Given the description of an element on the screen output the (x, y) to click on. 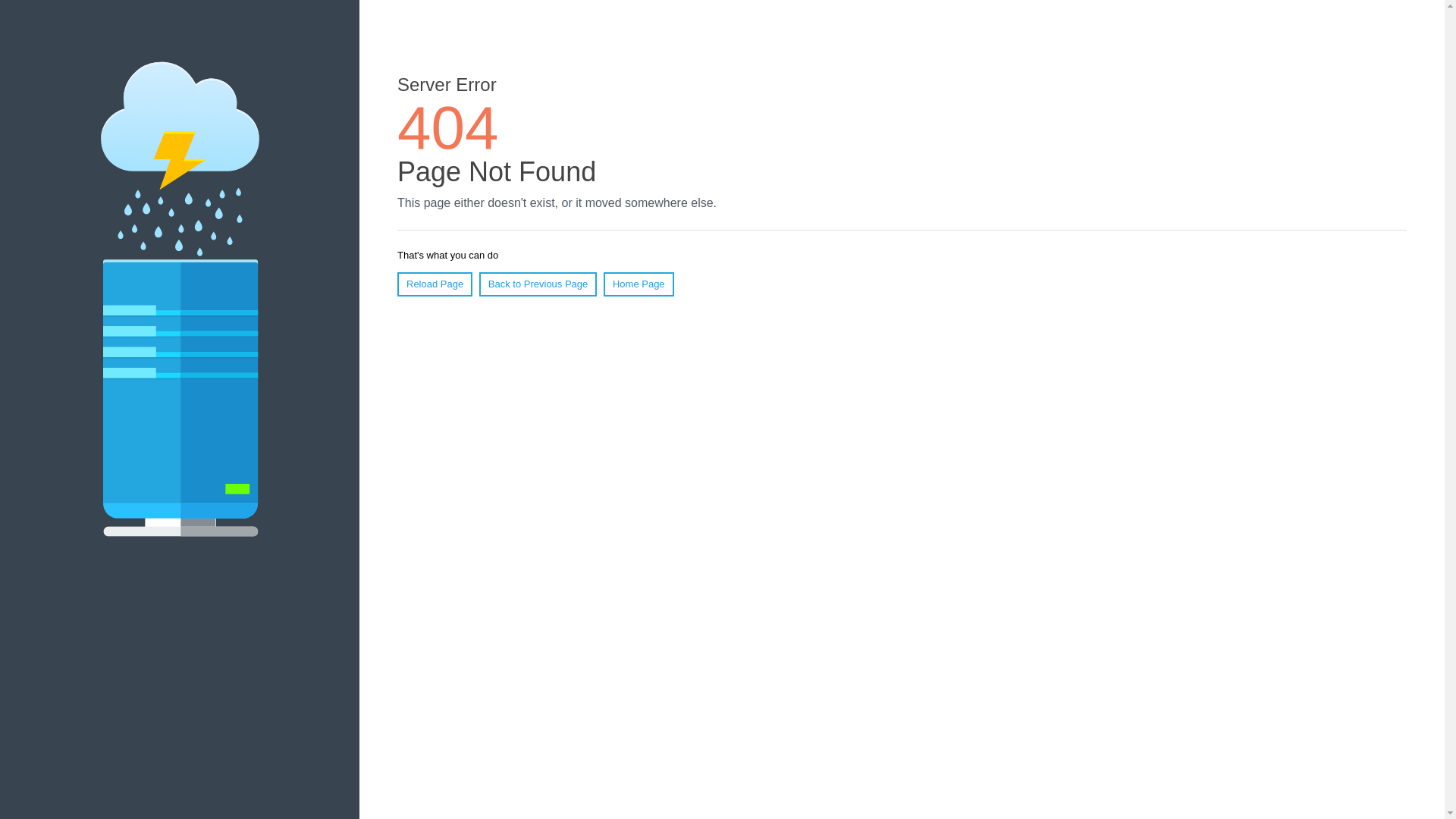
Back to Previous Page Element type: text (538, 284)
Home Page Element type: text (638, 284)
Reload Page Element type: text (434, 284)
